Given the description of an element on the screen output the (x, y) to click on. 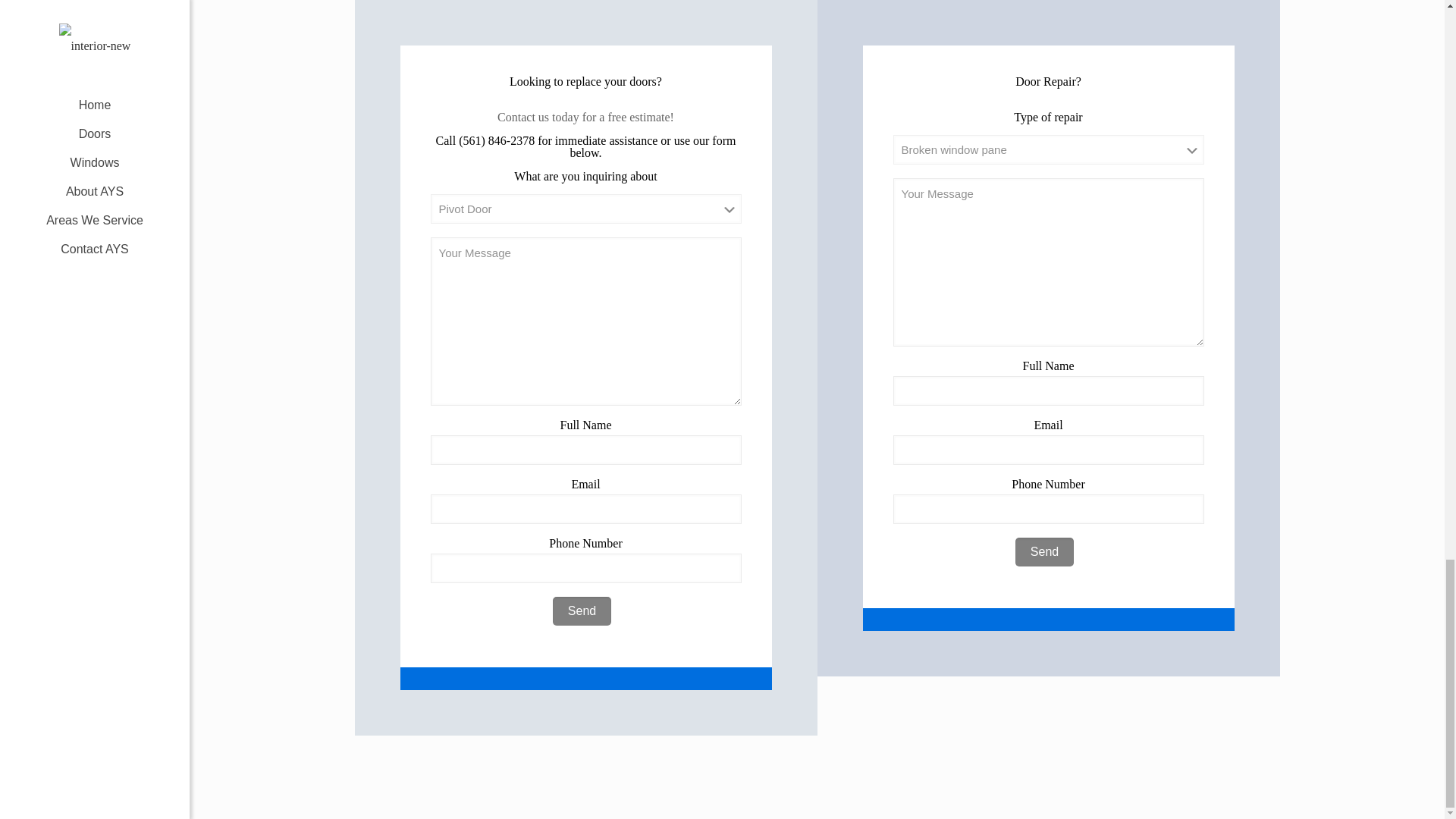
Send (582, 611)
Send (1044, 551)
Send (582, 611)
Send (1044, 551)
